Given the description of an element on the screen output the (x, y) to click on. 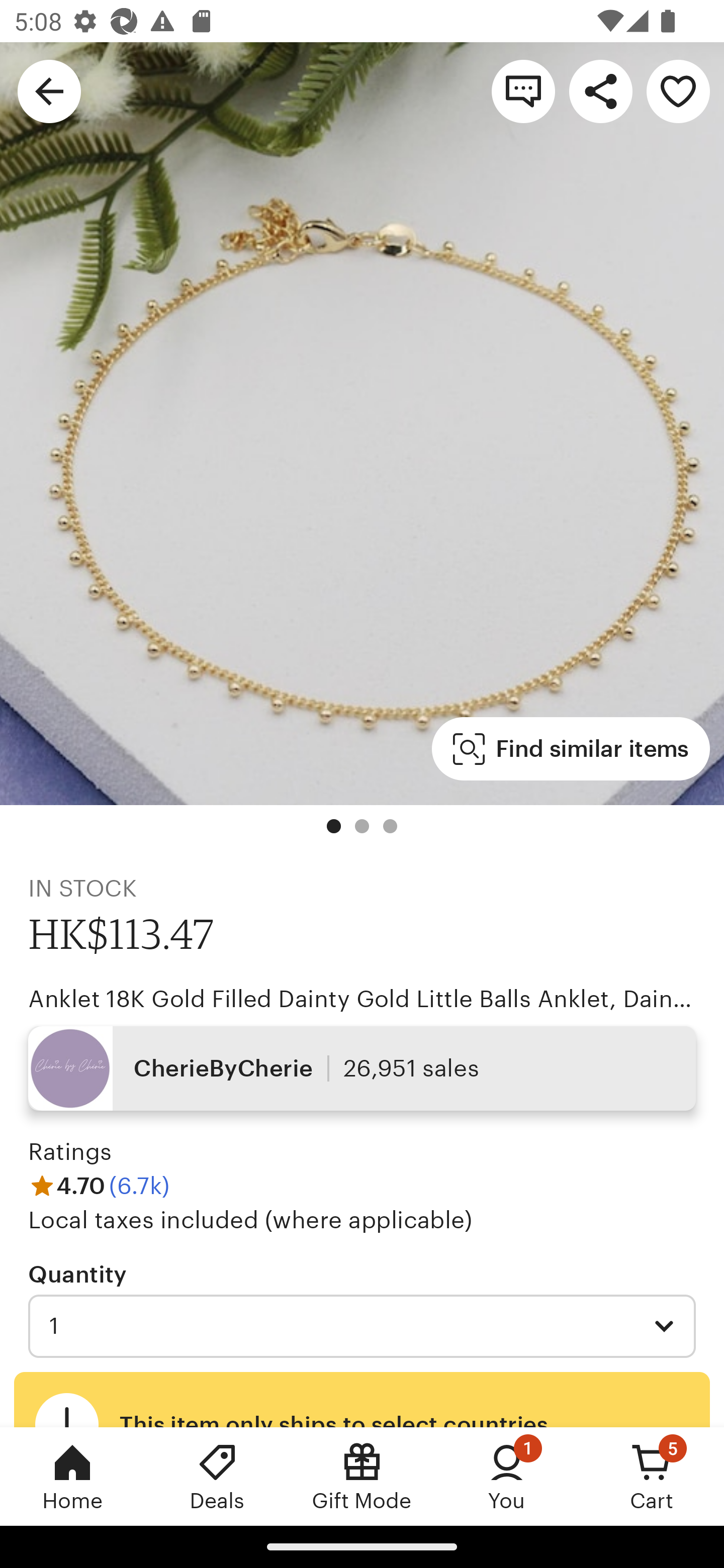
Navigate up (49, 90)
Contact shop (523, 90)
Share (600, 90)
Find similar items (571, 748)
CherieByCherie 26,951 sales (361, 1067)
Ratings (70, 1151)
4.70 (6.7k) (99, 1185)
Quantity (77, 1273)
1 (361, 1326)
Deals (216, 1475)
Gift Mode (361, 1475)
You, 1 new notification You (506, 1475)
Cart, 5 new notifications Cart (651, 1475)
